Given the description of an element on the screen output the (x, y) to click on. 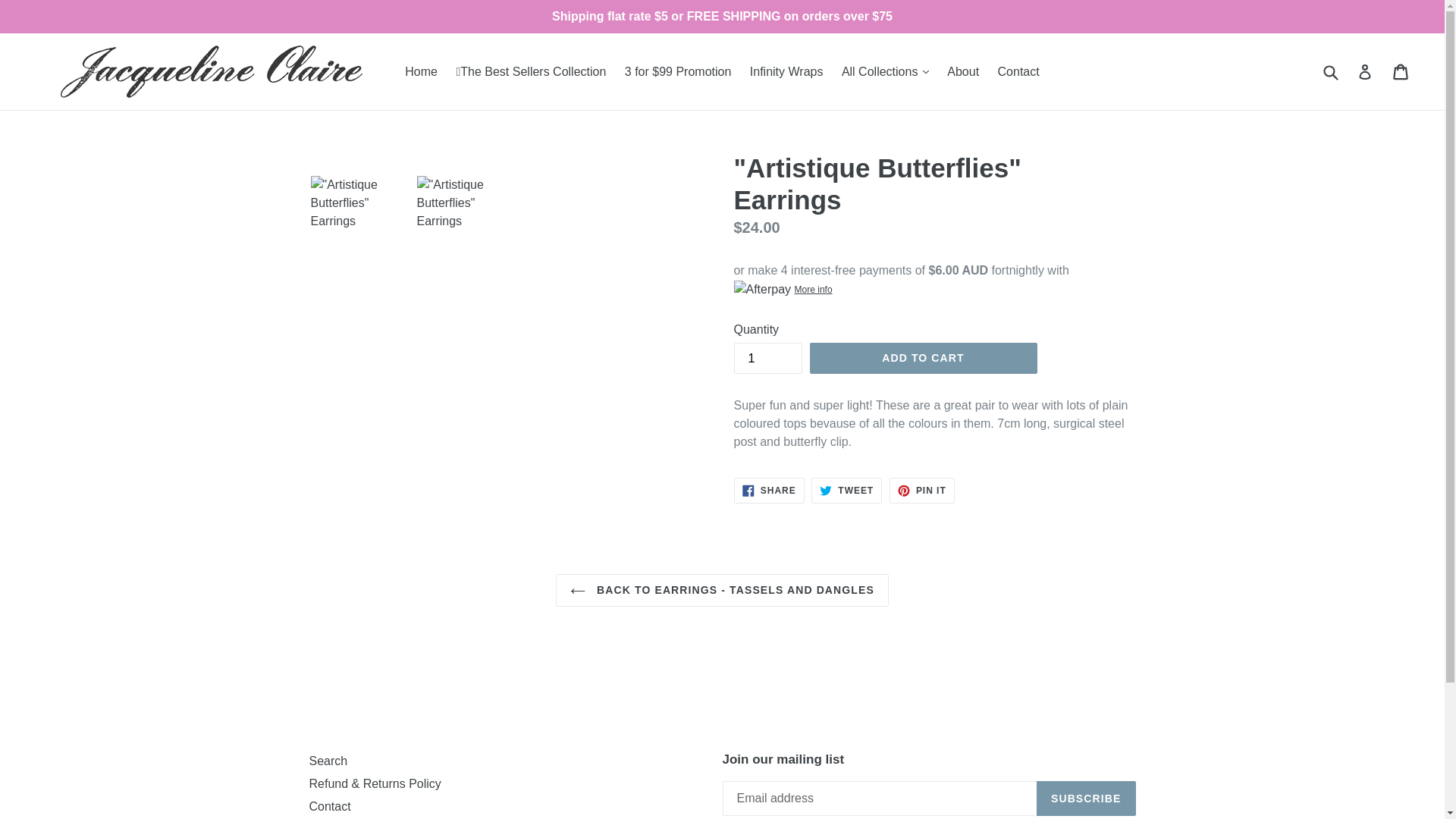
Pin on Pinterest (922, 490)
Infinity Wraps (786, 71)
Home (421, 71)
1 (767, 358)
Share on Facebook (769, 490)
Tweet on Twitter (846, 490)
